Given the description of an element on the screen output the (x, y) to click on. 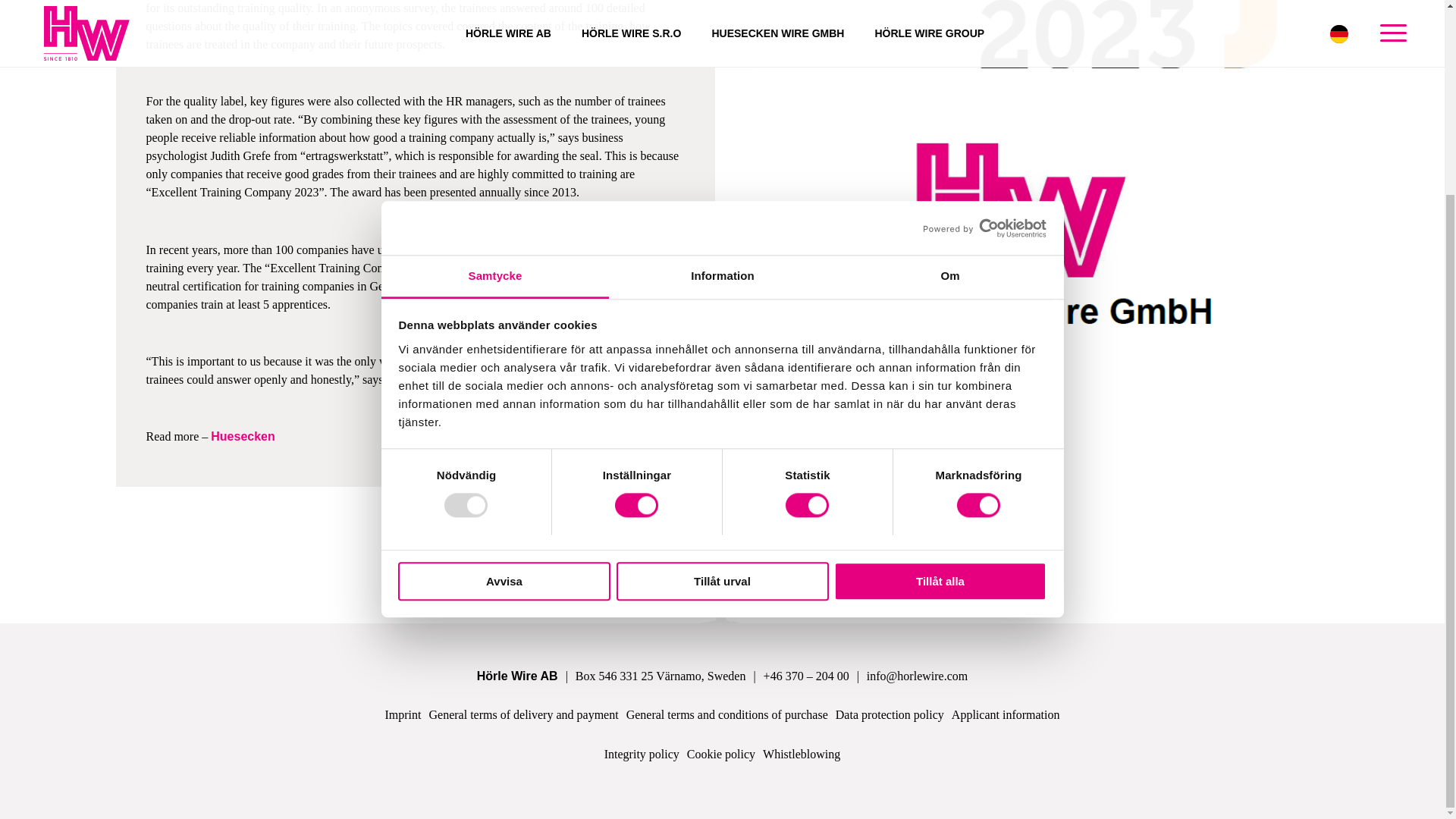
Om (948, 32)
Information (721, 32)
Avvisa (503, 335)
Samtycke (494, 32)
